Given the description of an element on the screen output the (x, y) to click on. 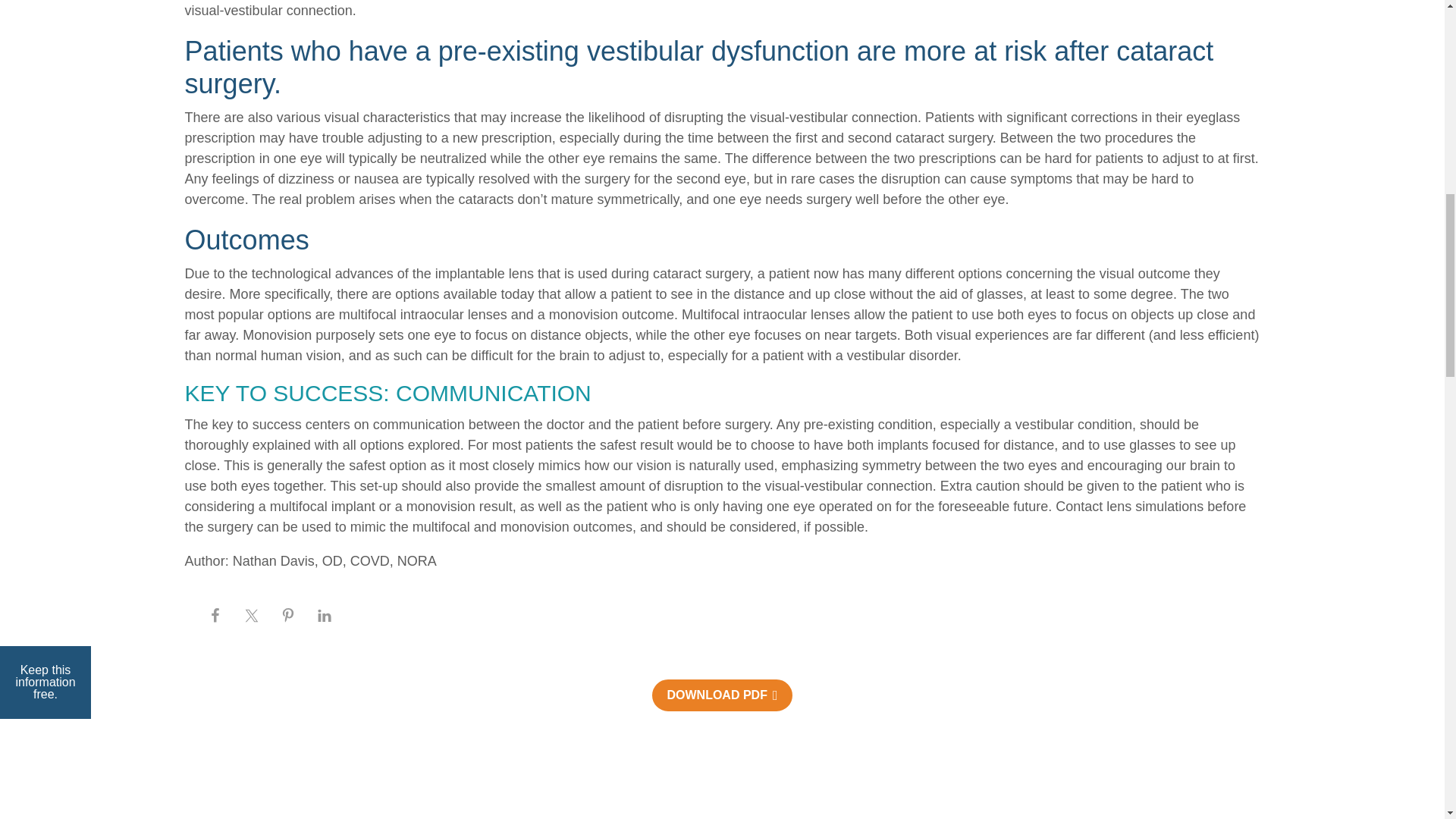
DOWNLOAD PDF (722, 764)
Share on Twitter (721, 643)
Share on Facebook (721, 616)
Share on Pinterest (721, 670)
Share on LinkedIn (721, 698)
